Given the description of an element on the screen output the (x, y) to click on. 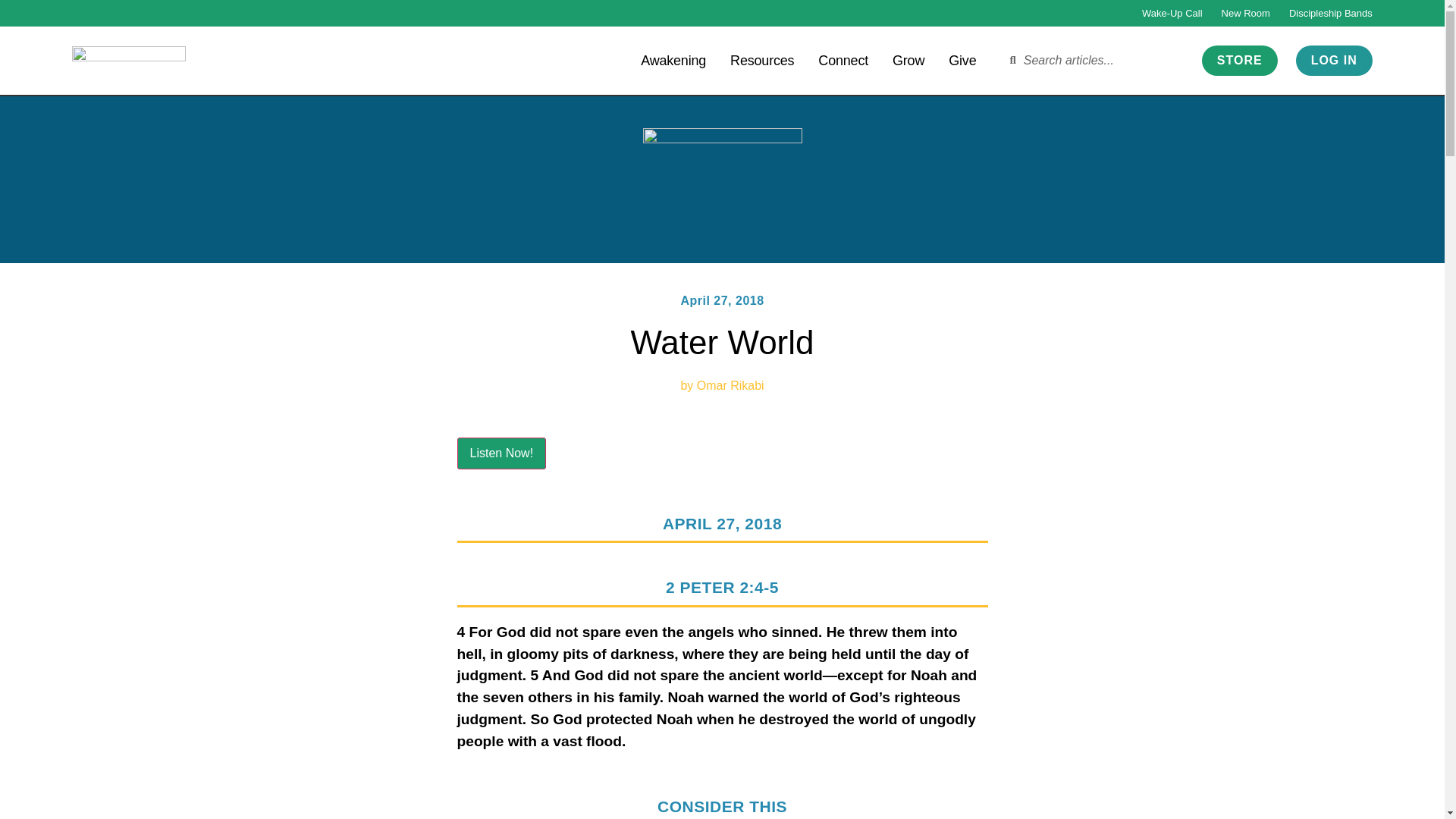
Discipleship Bands (1330, 13)
Grow (908, 59)
Awakening (673, 59)
New Room (1245, 13)
Connect (842, 59)
Wake-Up Call (1171, 13)
Resources (761, 59)
